Given the description of an element on the screen output the (x, y) to click on. 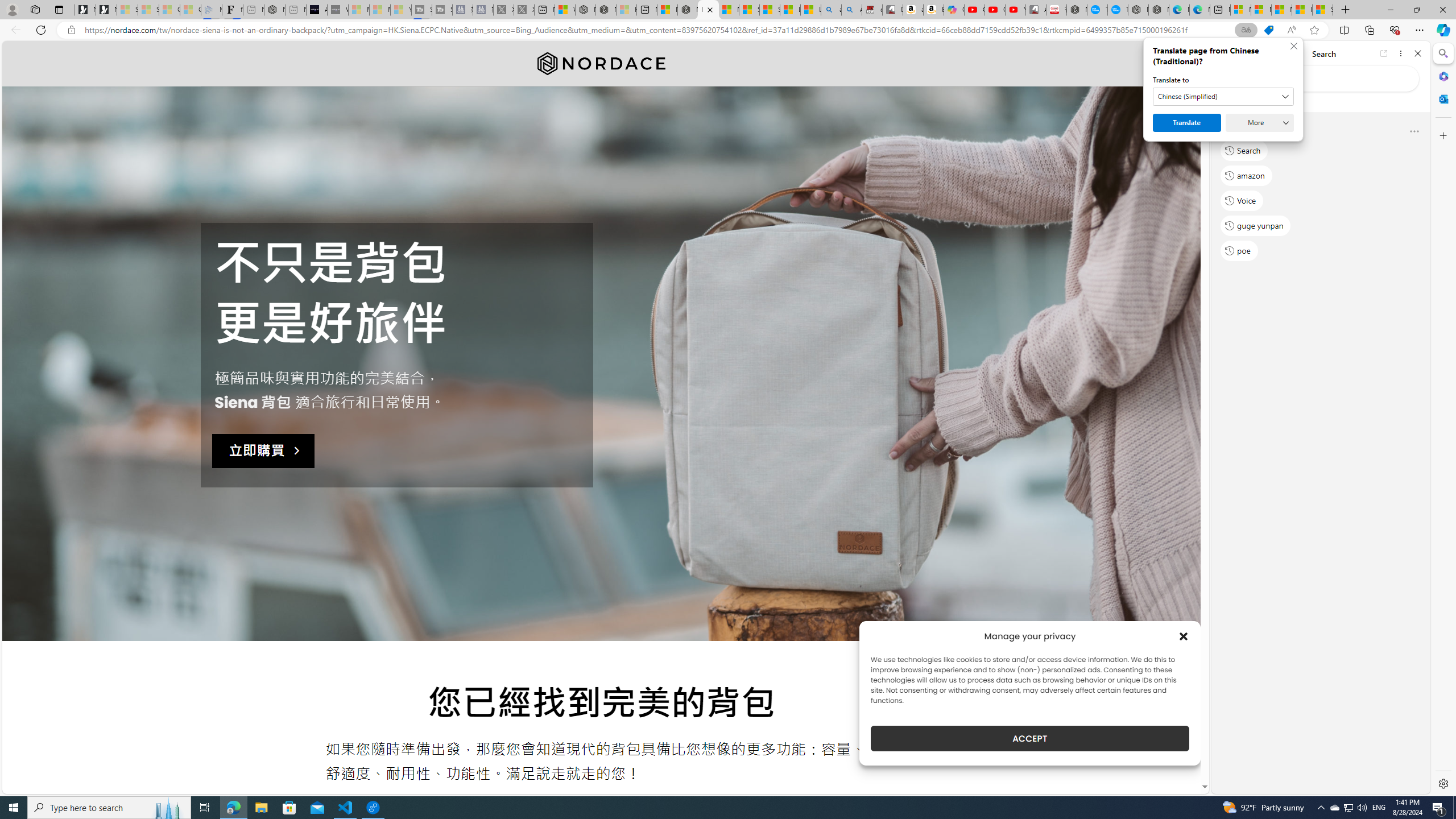
Outlook (1442, 98)
guge yunpan (1255, 225)
Microsoft Start Sports - Sleeping (358, 9)
Open link in new tab (1383, 53)
ACCEPT (1029, 738)
Translate to (1223, 96)
poe (1238, 250)
Voice (1241, 200)
